Given the description of an element on the screen output the (x, y) to click on. 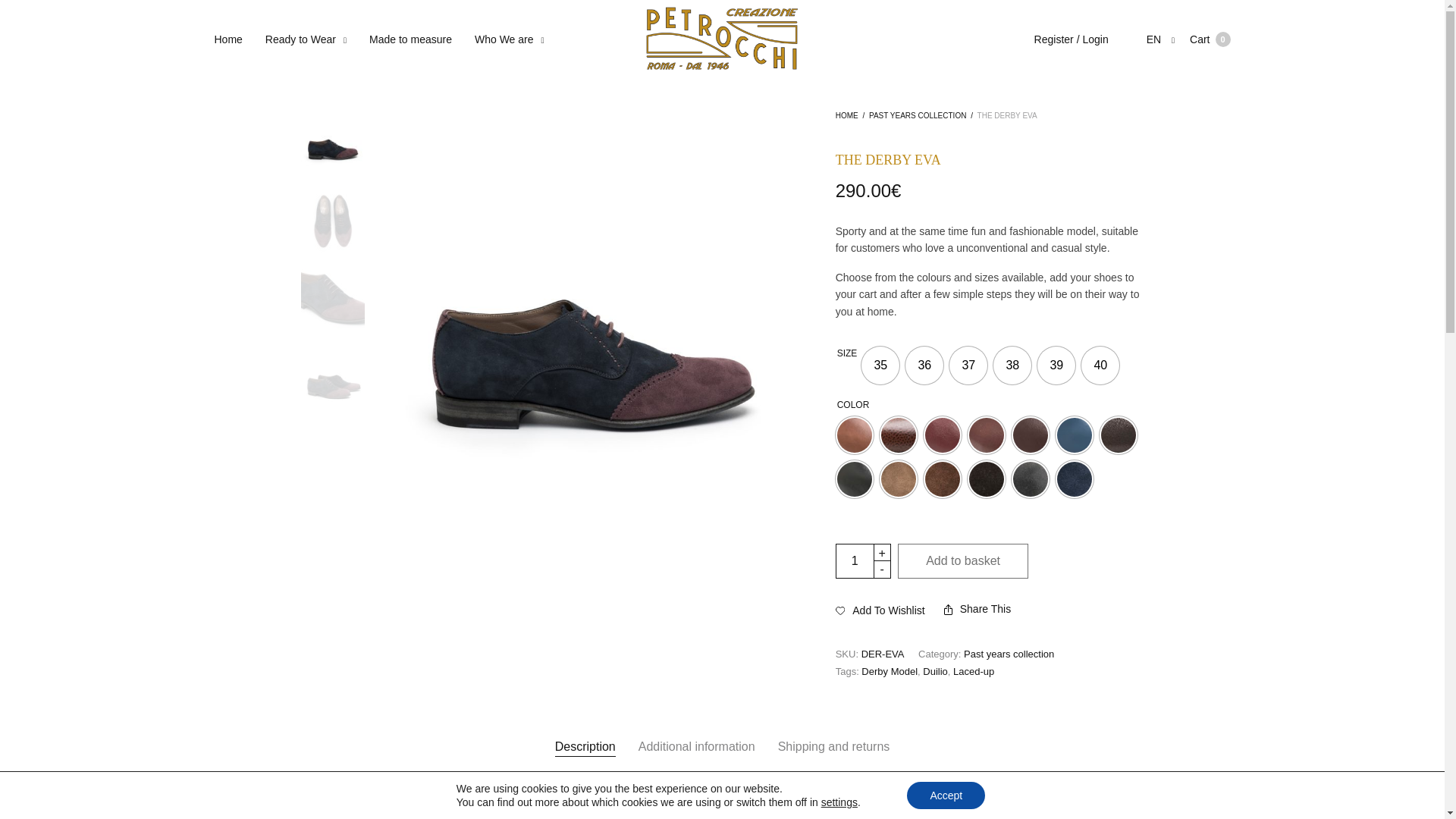
Share This (976, 609)
Add to basket (962, 560)
Add To Wishlist (879, 609)
Past years collection (1209, 39)
35 (1008, 653)
39 (880, 365)
37 (1055, 365)
1 (968, 365)
- (855, 560)
38 (882, 569)
Who We are (1011, 365)
HOME (509, 39)
Ready to Wear (847, 115)
PAST YEARS COLLECTION (305, 39)
